Given the description of an element on the screen output the (x, y) to click on. 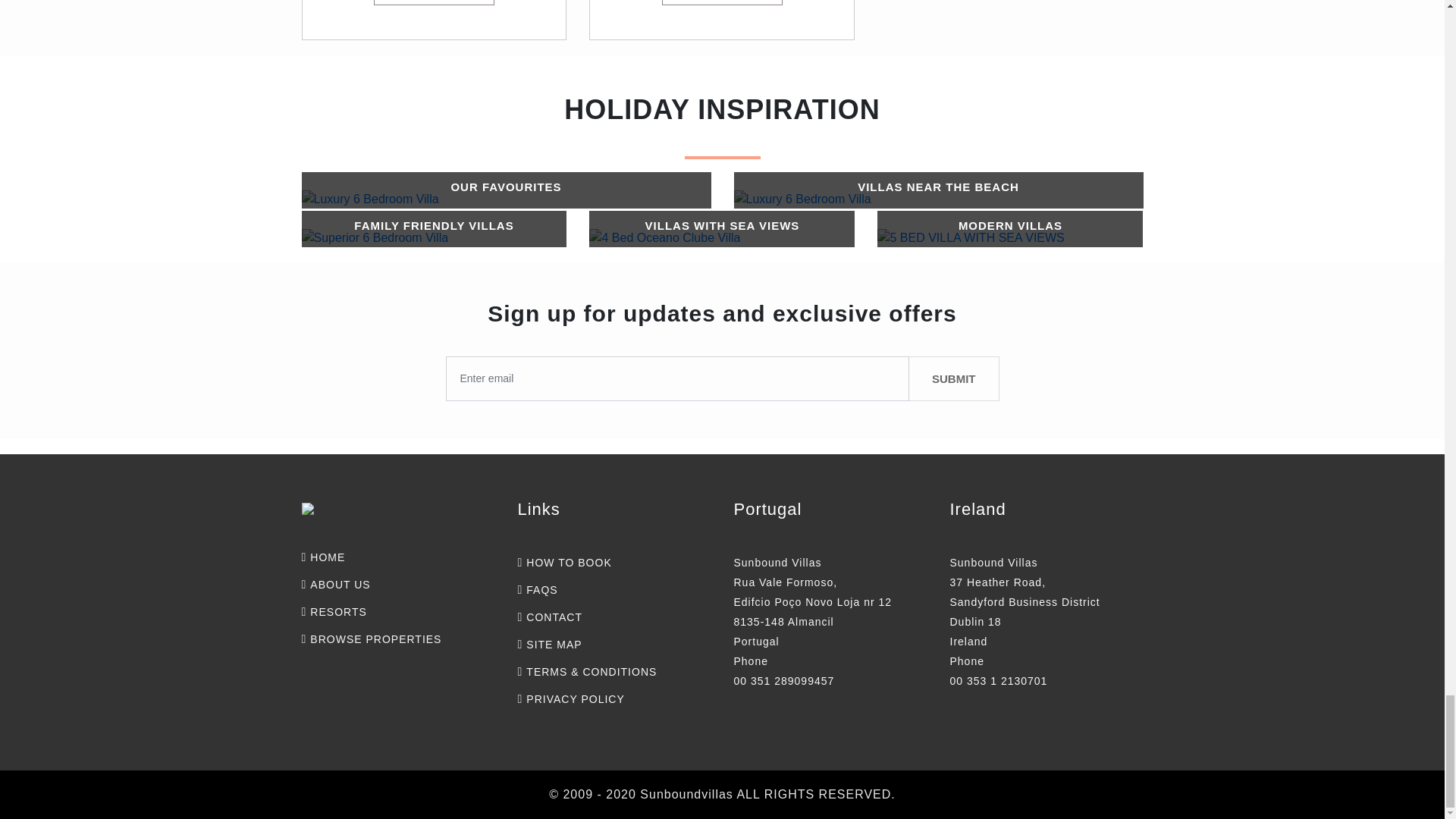
4 Bed Oceano Clube Villa (722, 225)
Luxury 6 Bedroom Villa (370, 199)
Luxury 6 Bedroom Villa (801, 199)
Superior 6 Bedroom Villa (374, 238)
Luxury 6 Bedroom Villa (938, 186)
5 BED VILLA WITH SEA VIEWS (970, 238)
5 BED VILLA WITH SEA VIEWS (1010, 225)
SUBMIT (953, 378)
Luxury 6 Bedroom Villa (504, 186)
Superior 6 Bedroom Villa (433, 225)
